Given the description of an element on the screen output the (x, y) to click on. 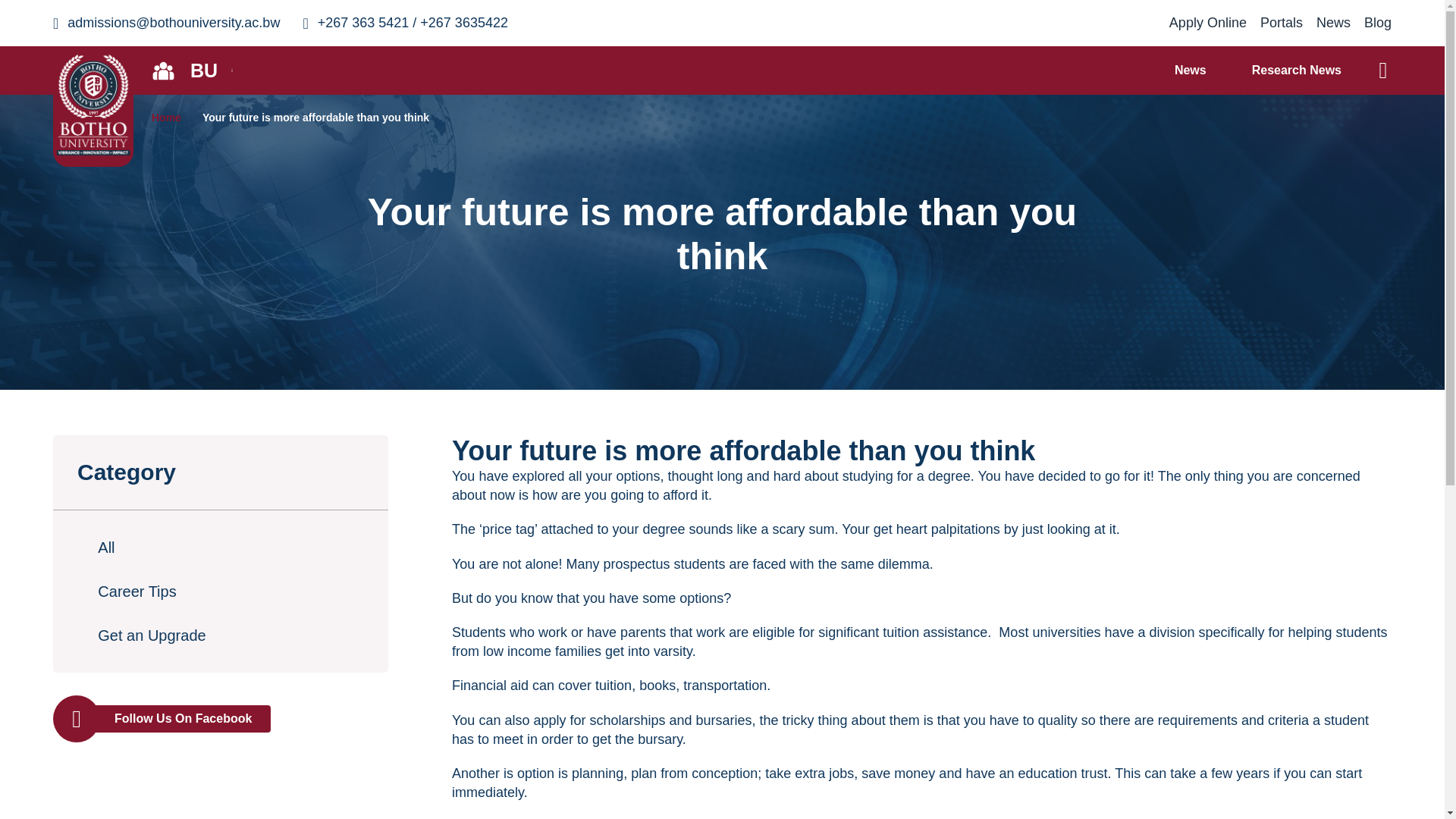
BU (191, 70)
All (220, 547)
Get an Upgrade (220, 635)
Career Tips (220, 591)
News (1189, 70)
Research News (1296, 70)
Follow Us On Facebook (220, 718)
Portals (1281, 22)
Your future is more affordable than you think (315, 117)
Apply Online (1207, 22)
Home (171, 117)
